Given the description of an element on the screen output the (x, y) to click on. 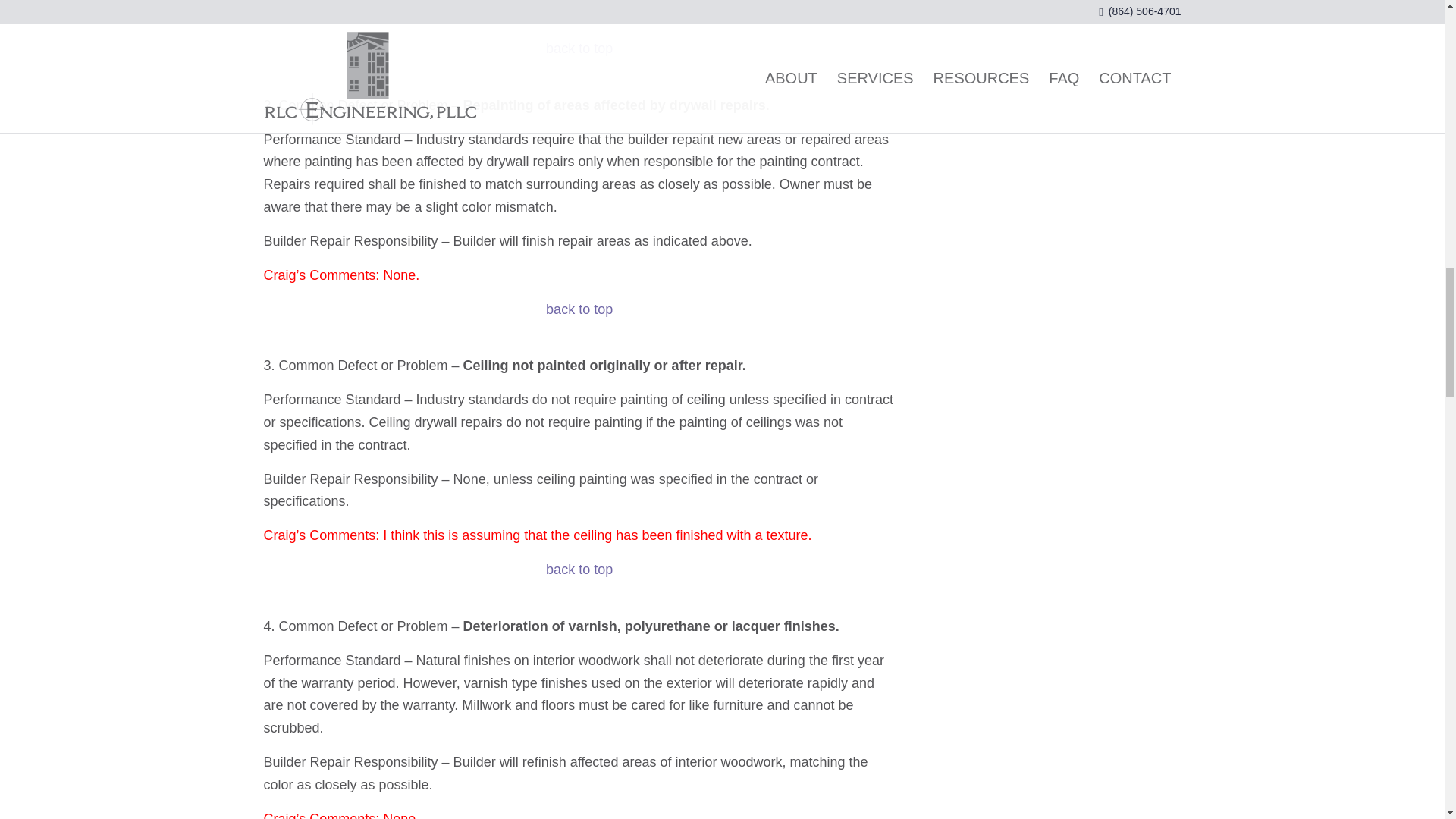
back to top (579, 309)
back to top (579, 569)
back to top (579, 48)
